Given the description of an element on the screen output the (x, y) to click on. 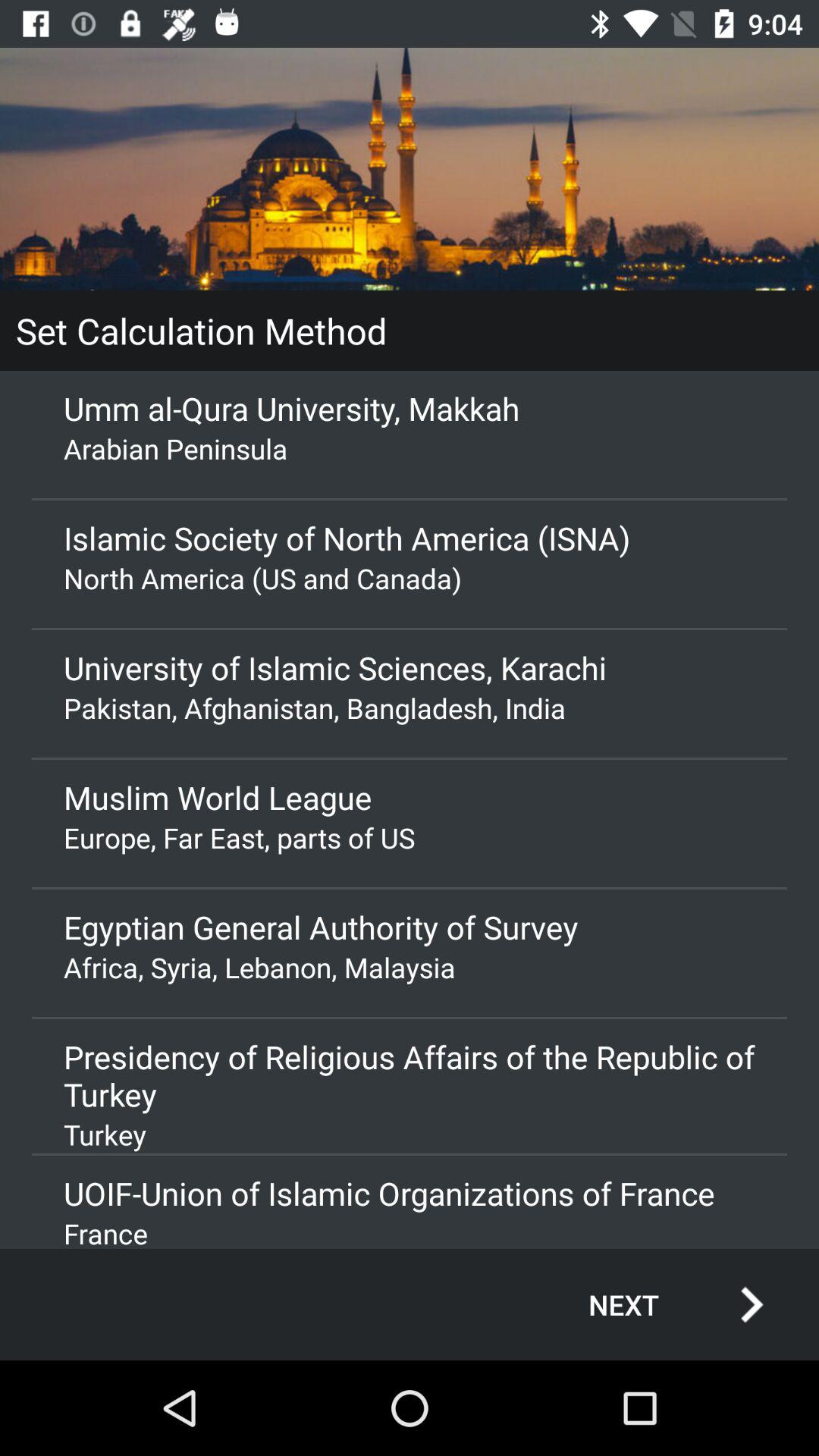
open the app below pakistan afghanistan bangladesh item (409, 797)
